Given the description of an element on the screen output the (x, y) to click on. 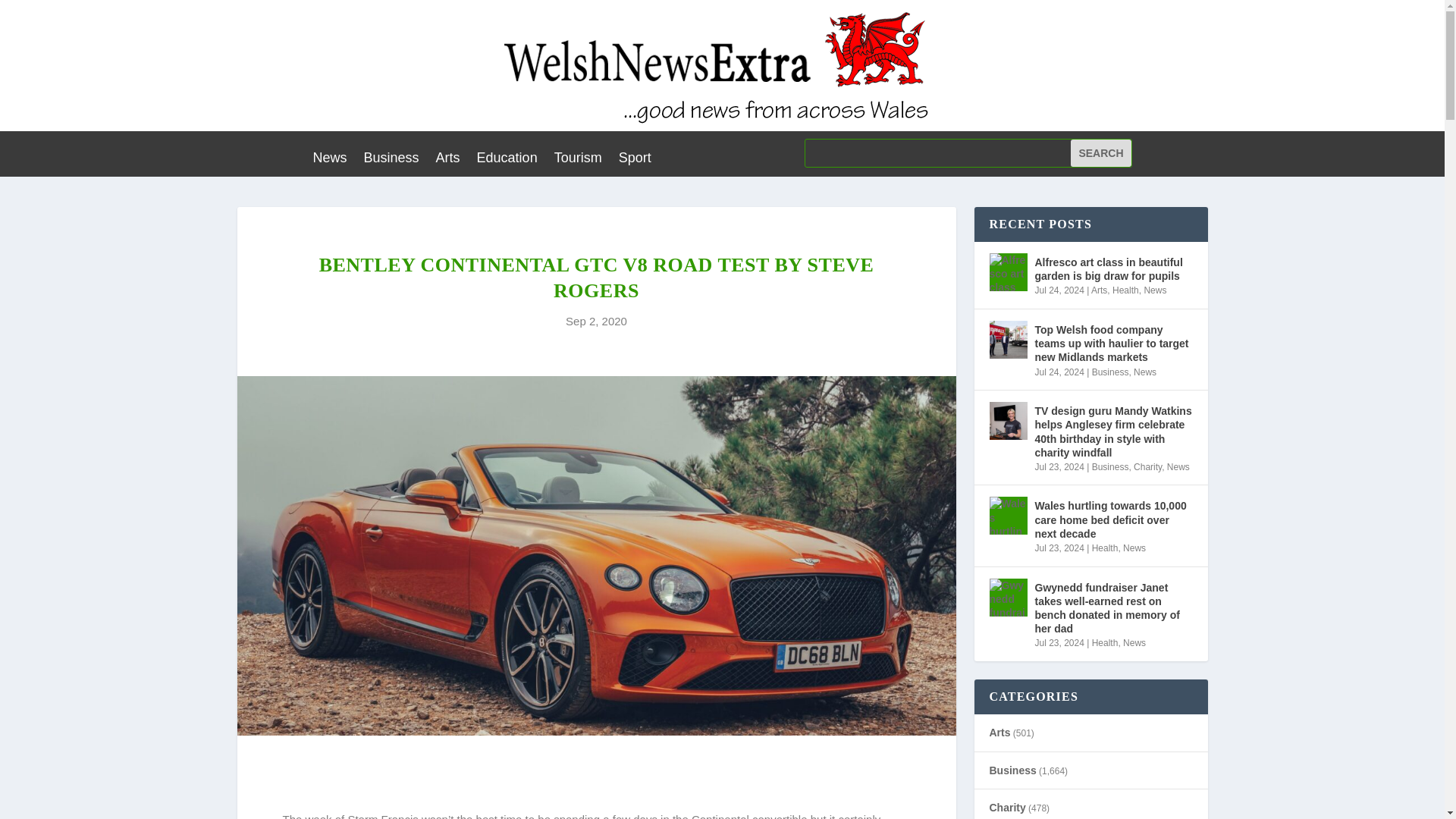
News (1145, 371)
Sport (634, 160)
Health (1125, 290)
Search (1100, 153)
Search (1100, 153)
Business (1110, 466)
Education (507, 160)
Arts (1098, 290)
Tourism (578, 160)
logo10 (722, 65)
Business (391, 160)
Business (1110, 371)
